Given the description of an element on the screen output the (x, y) to click on. 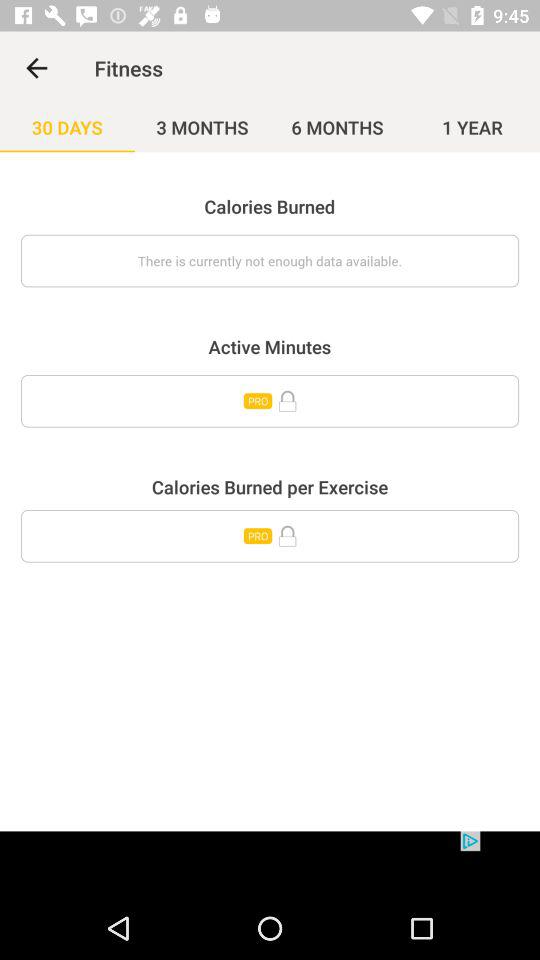
toggle autoplay option (269, 401)
